Given the description of an element on the screen output the (x, y) to click on. 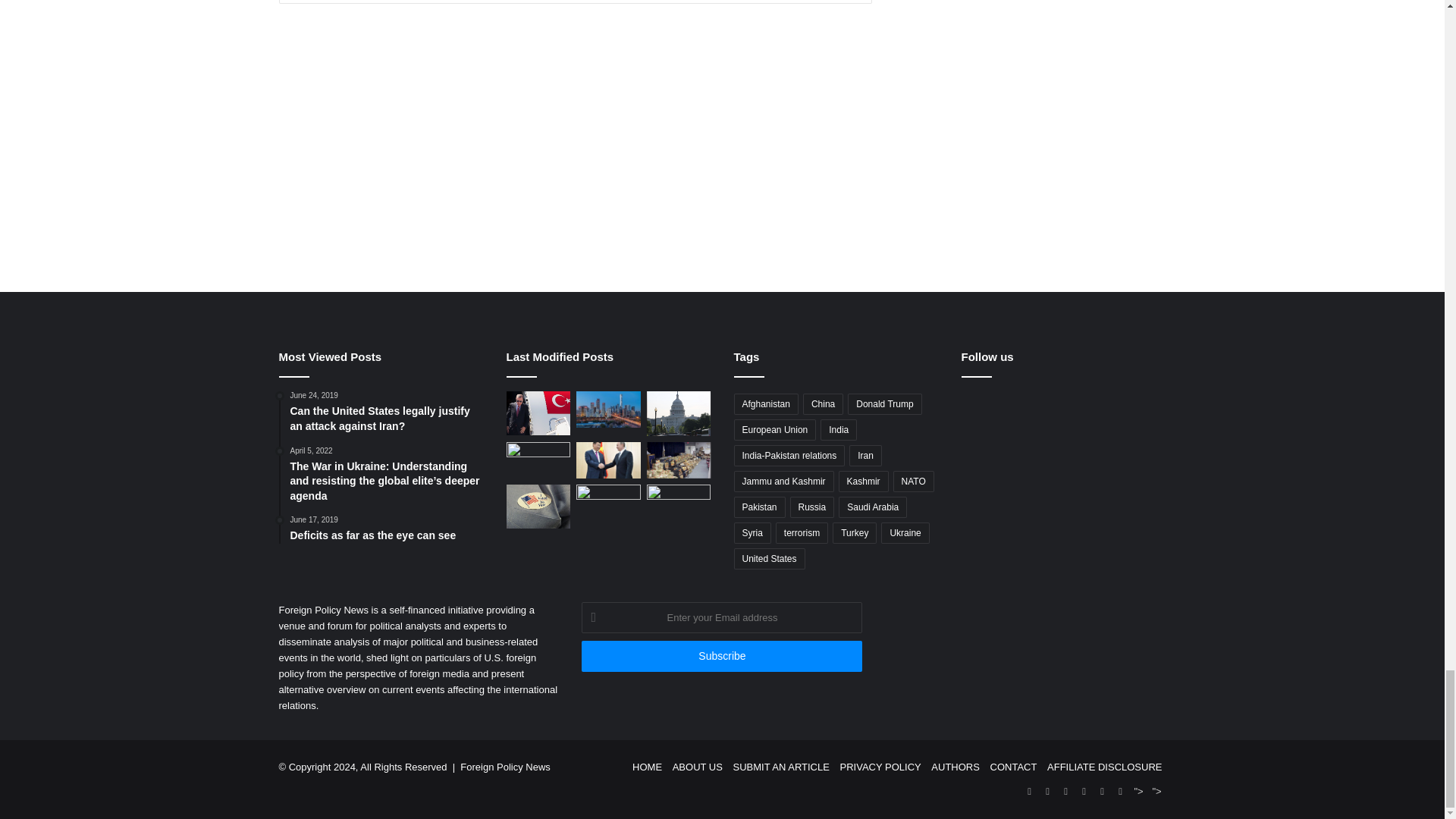
Subscribe (720, 655)
